Given the description of an element on the screen output the (x, y) to click on. 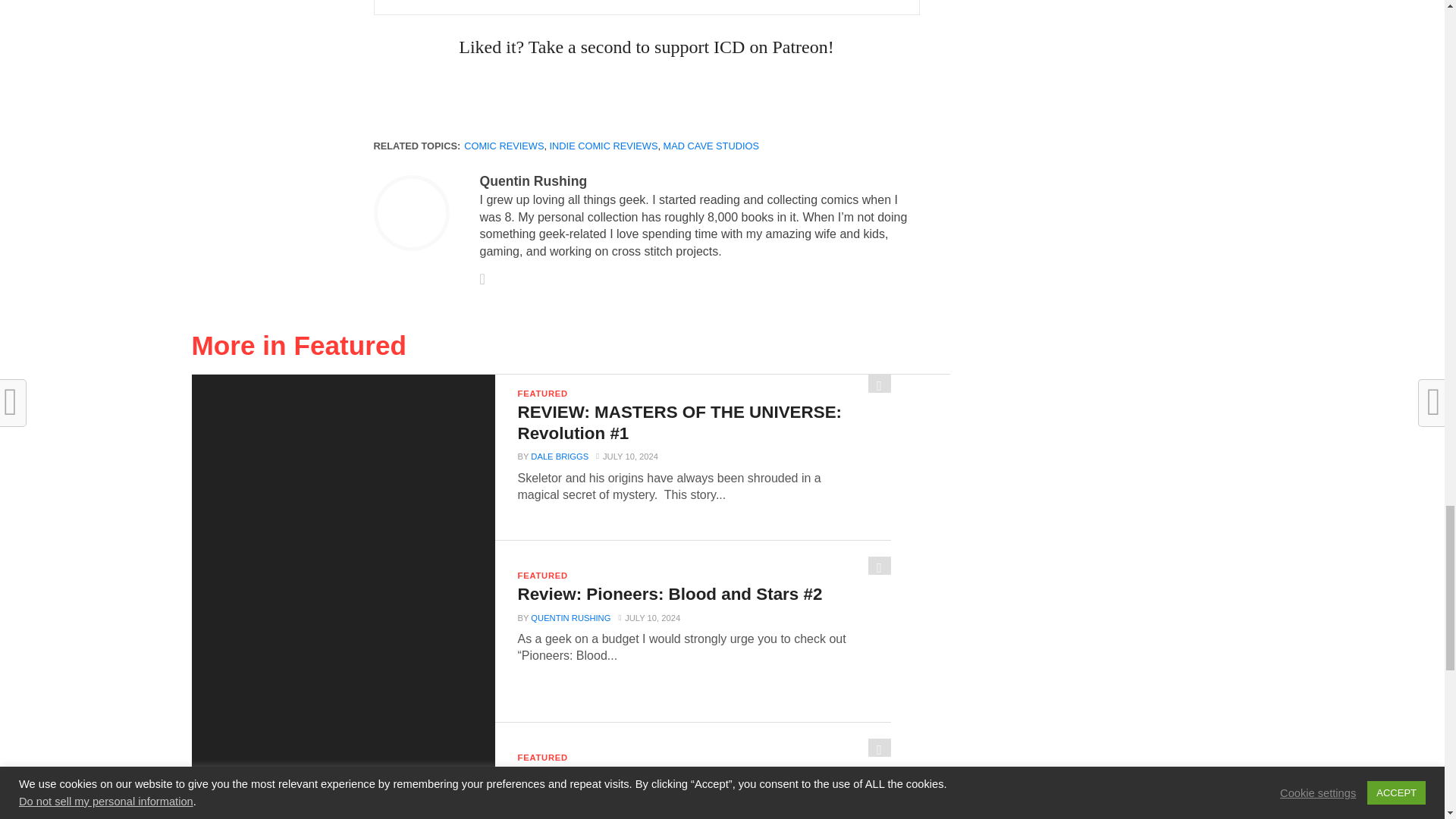
MAD CAVE STUDIOS (710, 145)
Quentin Rushing (532, 181)
Posts by Quentin Rushing (532, 181)
Posts by Dale Briggs (559, 456)
INDIE COMIC REVIEWS (604, 145)
DALE BRIGGS (559, 456)
COMIC REVIEWS (503, 145)
